Given the description of an element on the screen output the (x, y) to click on. 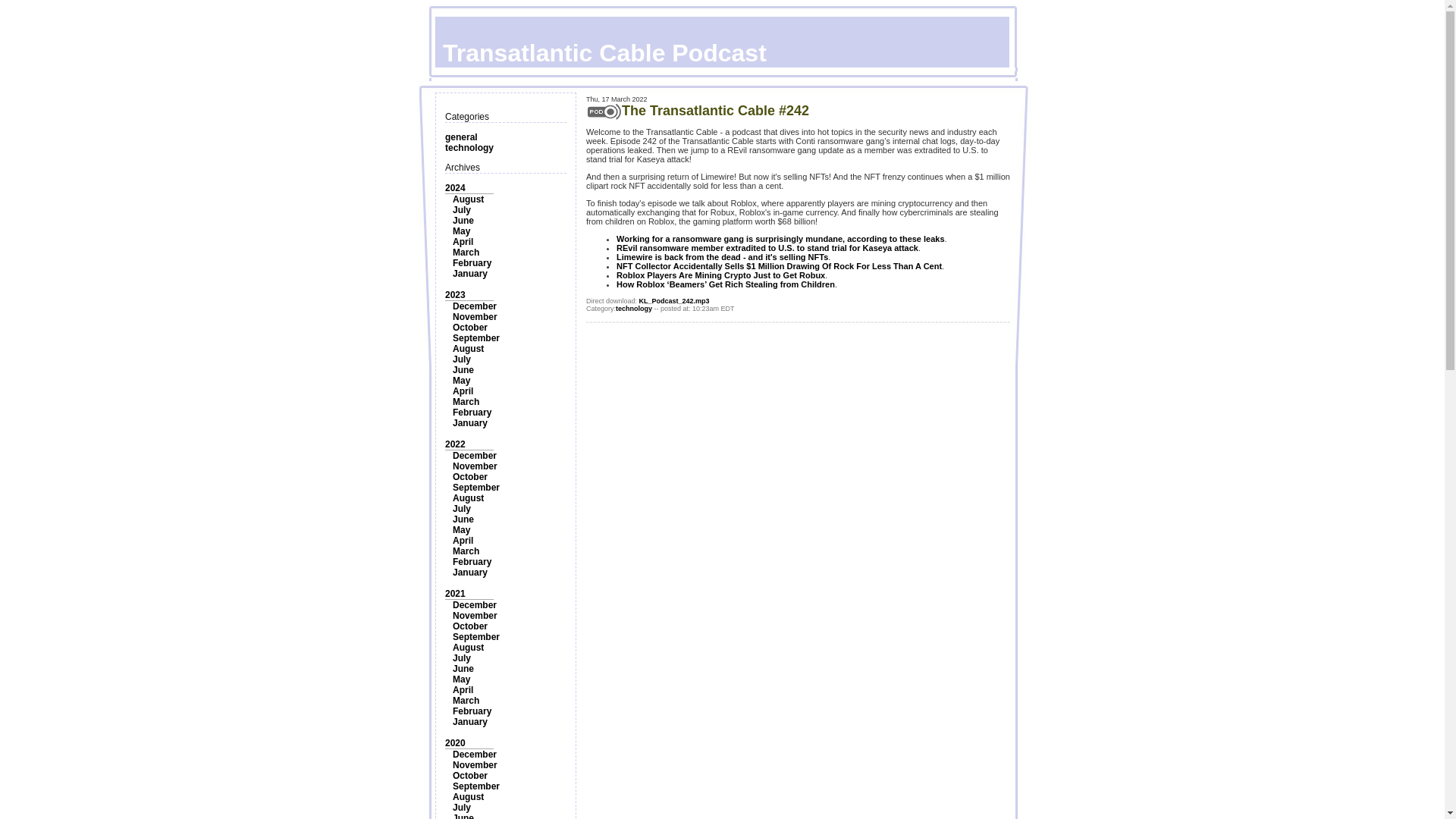
March (465, 252)
May (461, 380)
April (462, 390)
November (474, 615)
November (474, 466)
June (463, 369)
December (474, 306)
July (461, 209)
September (475, 337)
2024 (455, 187)
